Given the description of an element on the screen output the (x, y) to click on. 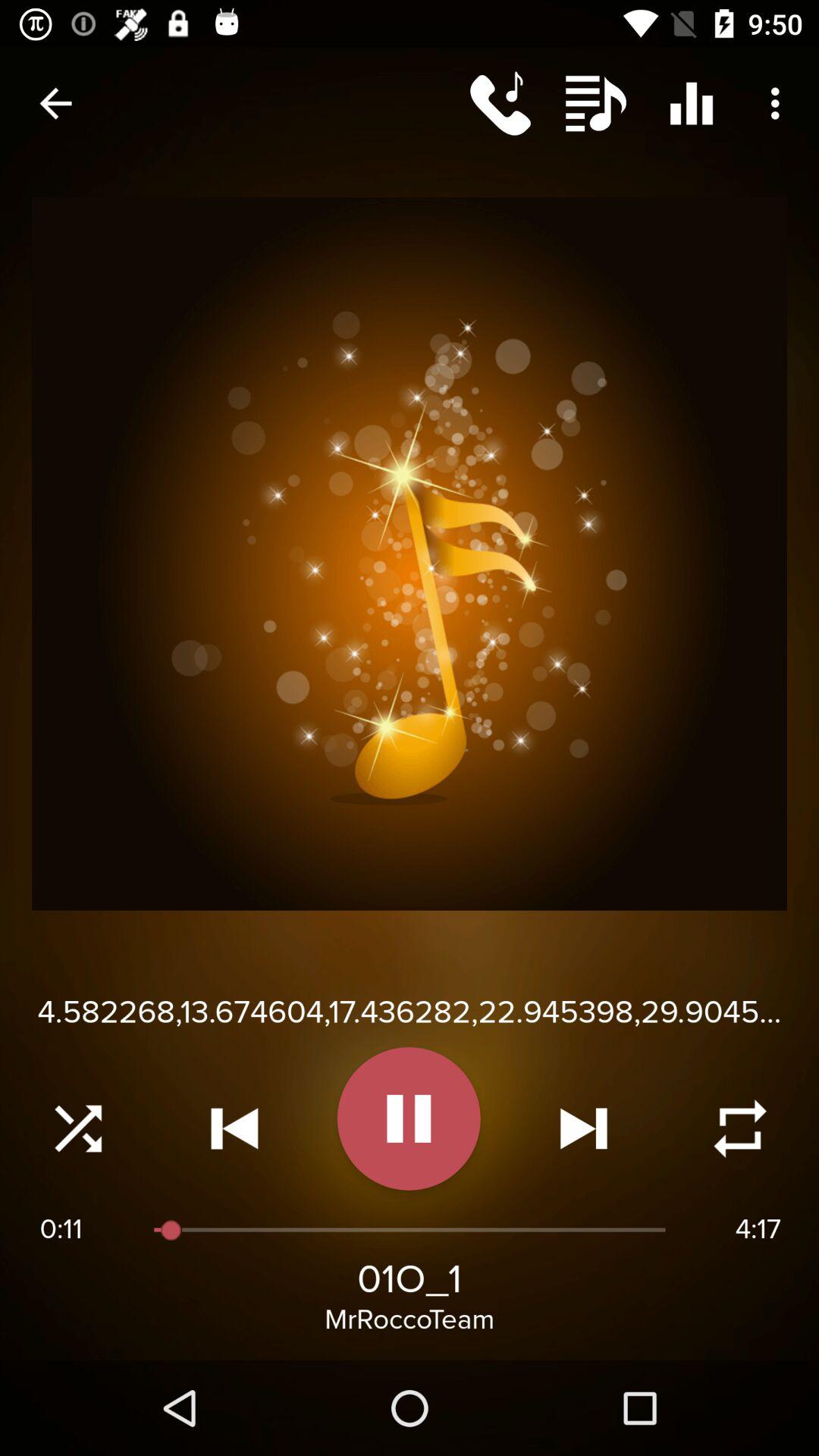
skip to next song (583, 1128)
